Given the description of an element on the screen output the (x, y) to click on. 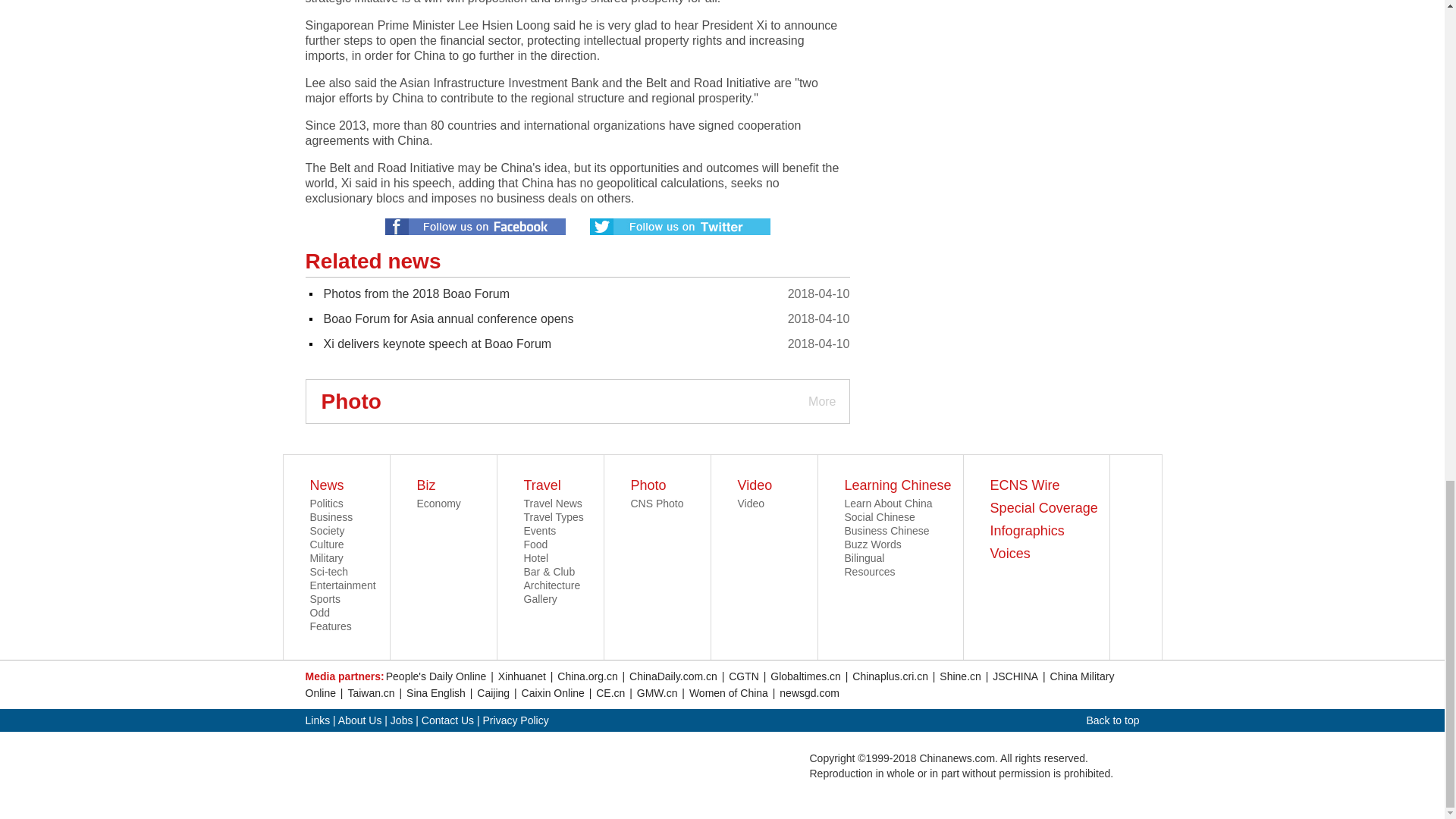
Xi delivers keynote speech at Boao Forum (437, 343)
Photos from the 2018 Boao Forum (415, 293)
Boao Forum for Asia annual conference opens (448, 318)
